Given the description of an element on the screen output the (x, y) to click on. 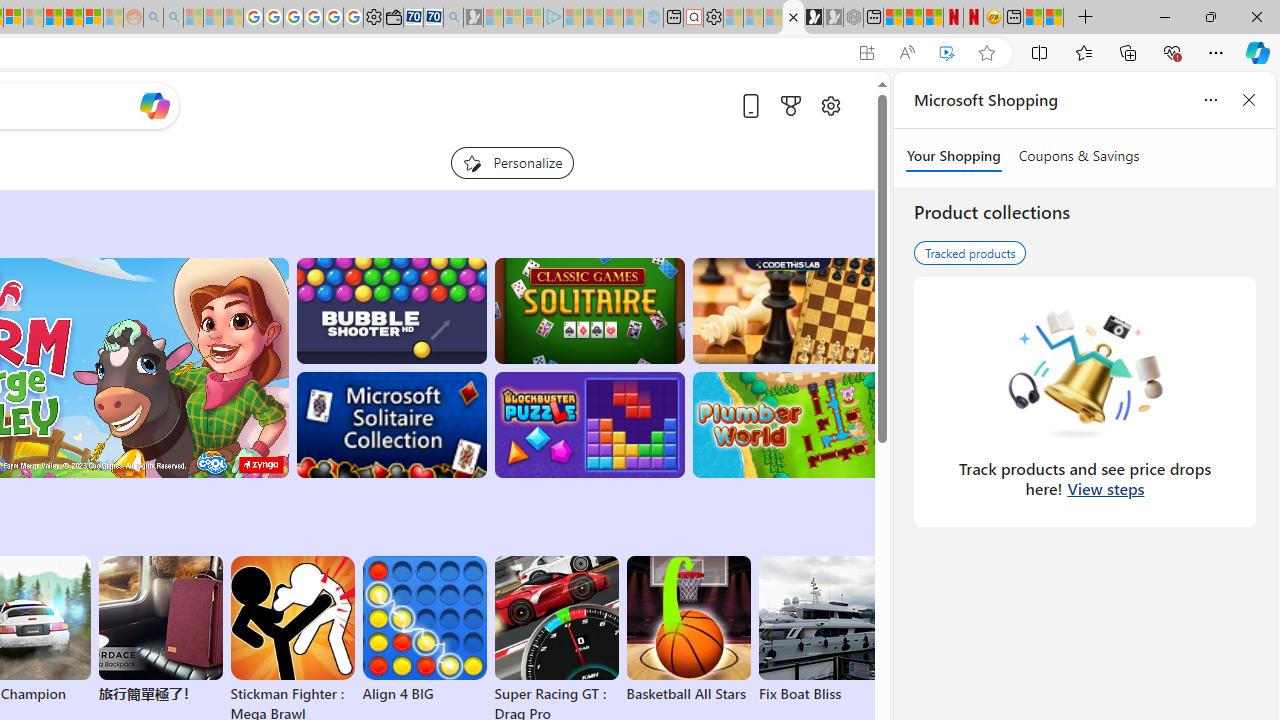
Basketball All Stars (688, 629)
Microsoft Solitaire Collection (390, 425)
